Given the description of an element on the screen output the (x, y) to click on. 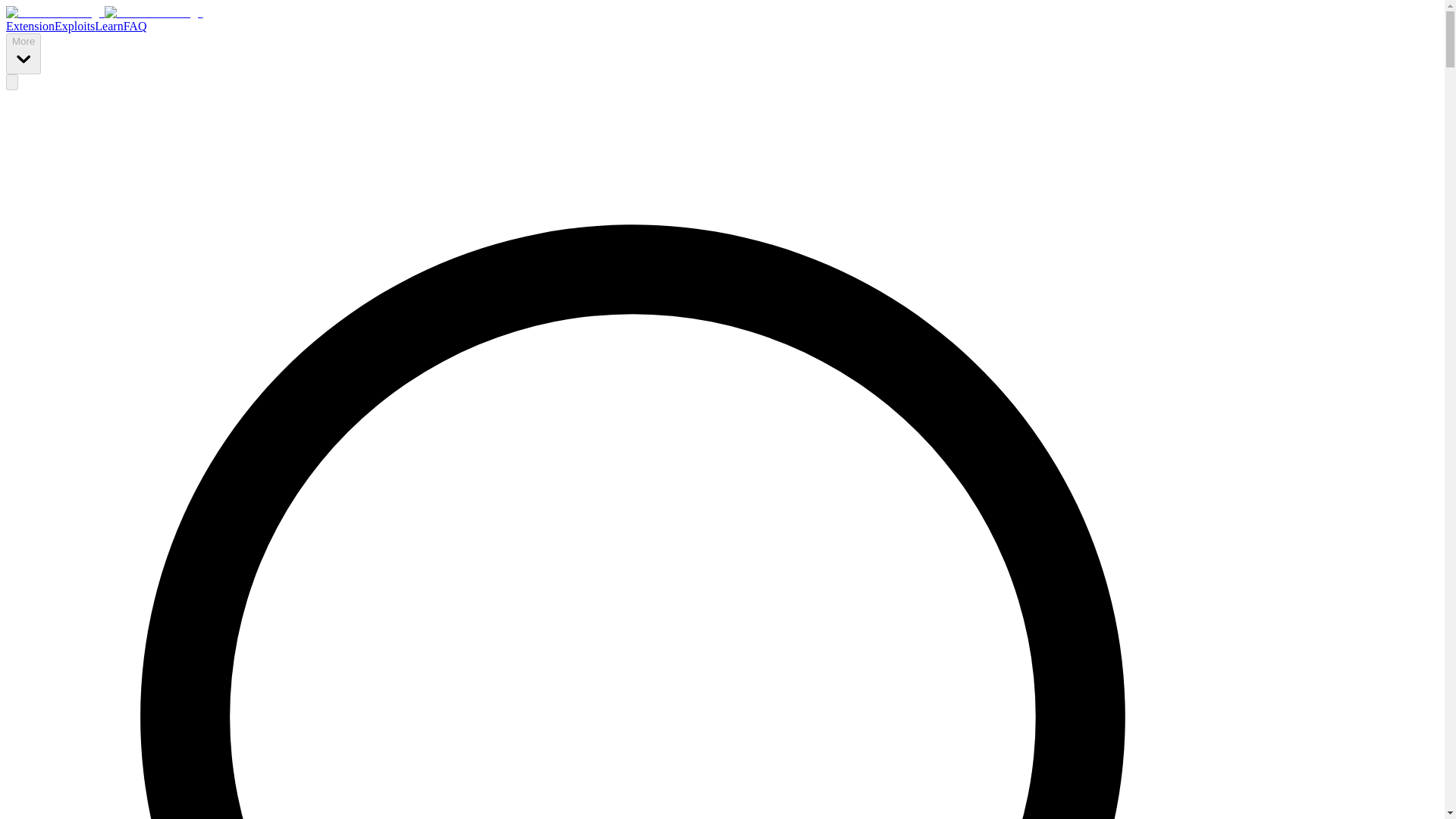
Extension (30, 25)
Exploits (74, 25)
FAQ (135, 25)
Learn (108, 25)
